Given the description of an element on the screen output the (x, y) to click on. 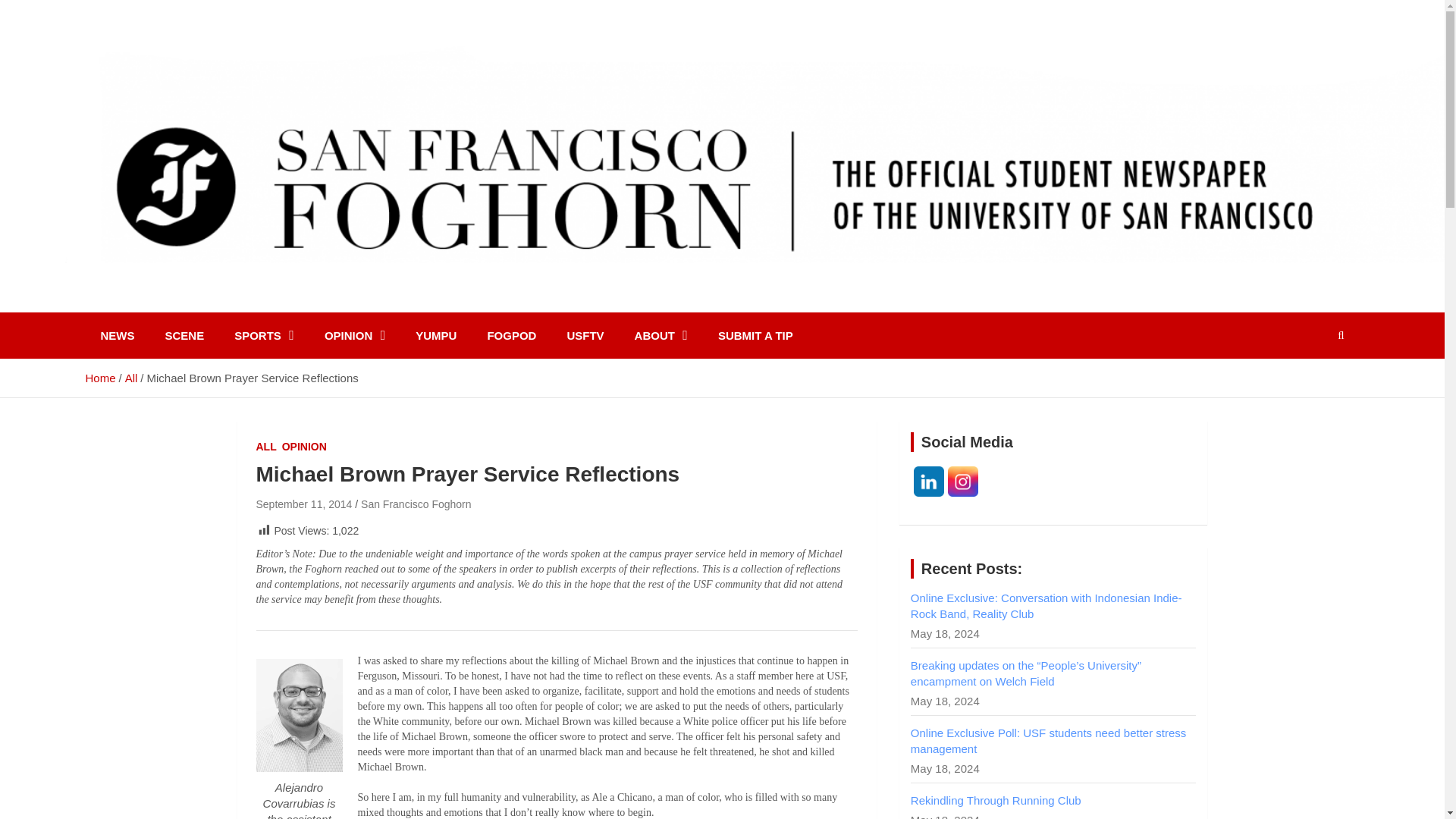
Michael Brown Prayer Service Reflections (304, 503)
SPORTS (263, 335)
NEWS (116, 335)
ALL (266, 447)
OPINION (304, 447)
FOGPOD (511, 335)
SUBMIT A TIP (755, 335)
OPINION (354, 335)
Home (99, 377)
YUMPU (435, 335)
